Given the description of an element on the screen output the (x, y) to click on. 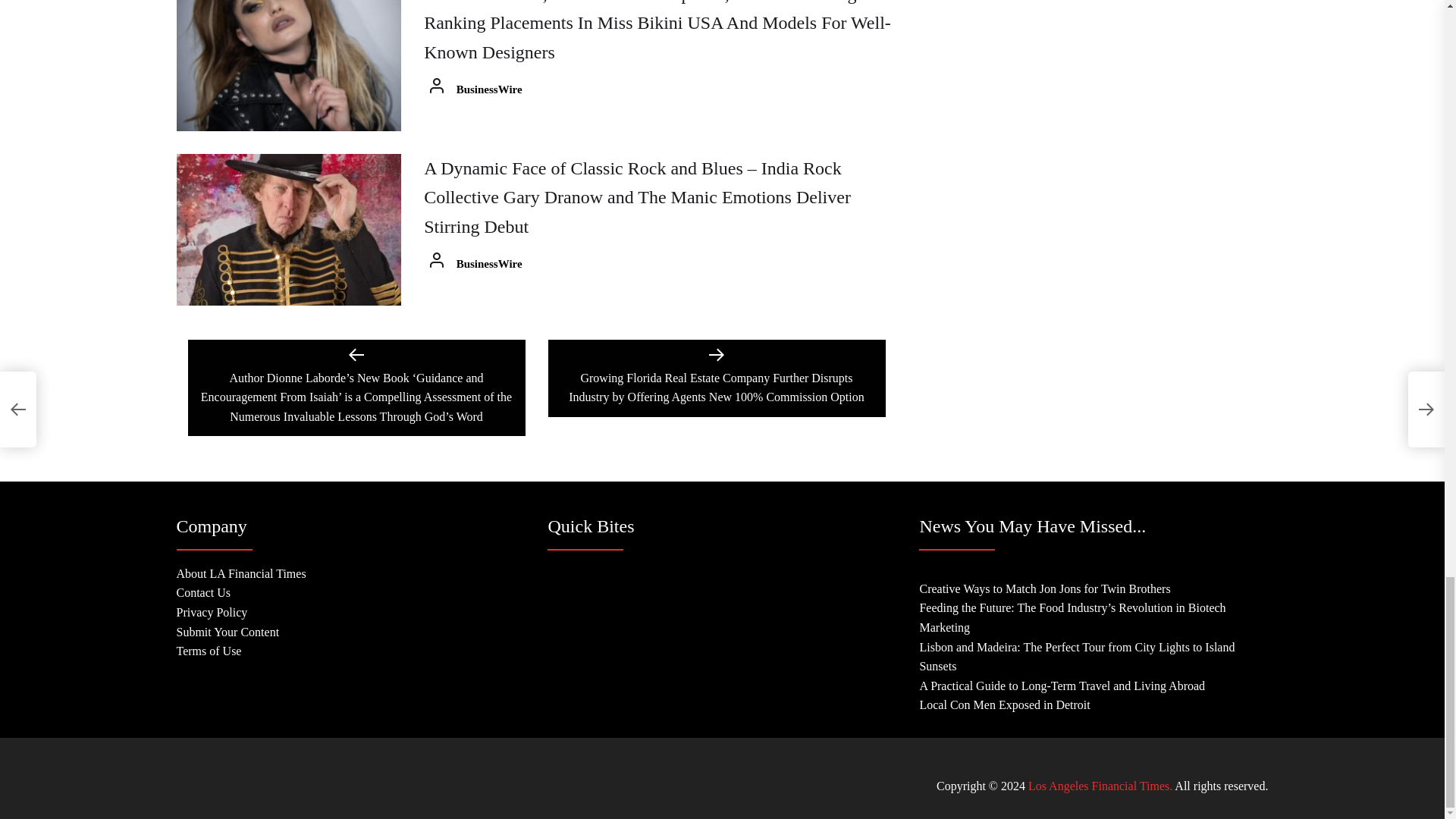
Los Angeles Financial Times (1099, 786)
